Given the description of an element on the screen output the (x, y) to click on. 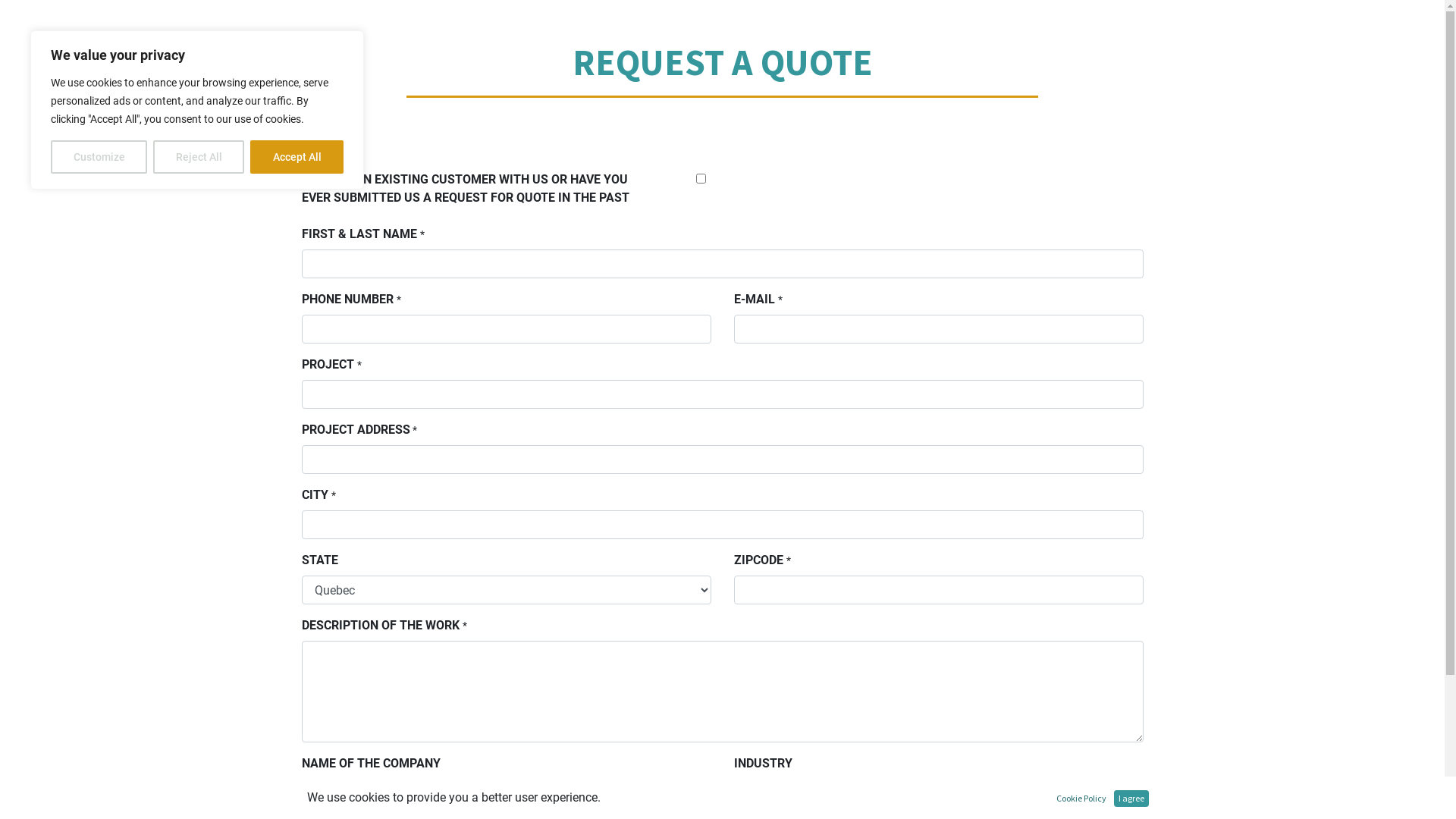
I agree Element type: text (1130, 798)
Accept All Element type: text (296, 156)
Reject All Element type: text (198, 156)
Cookie Policy Element type: text (1080, 798)
Customize Element type: text (98, 156)
